Given the description of an element on the screen output the (x, y) to click on. 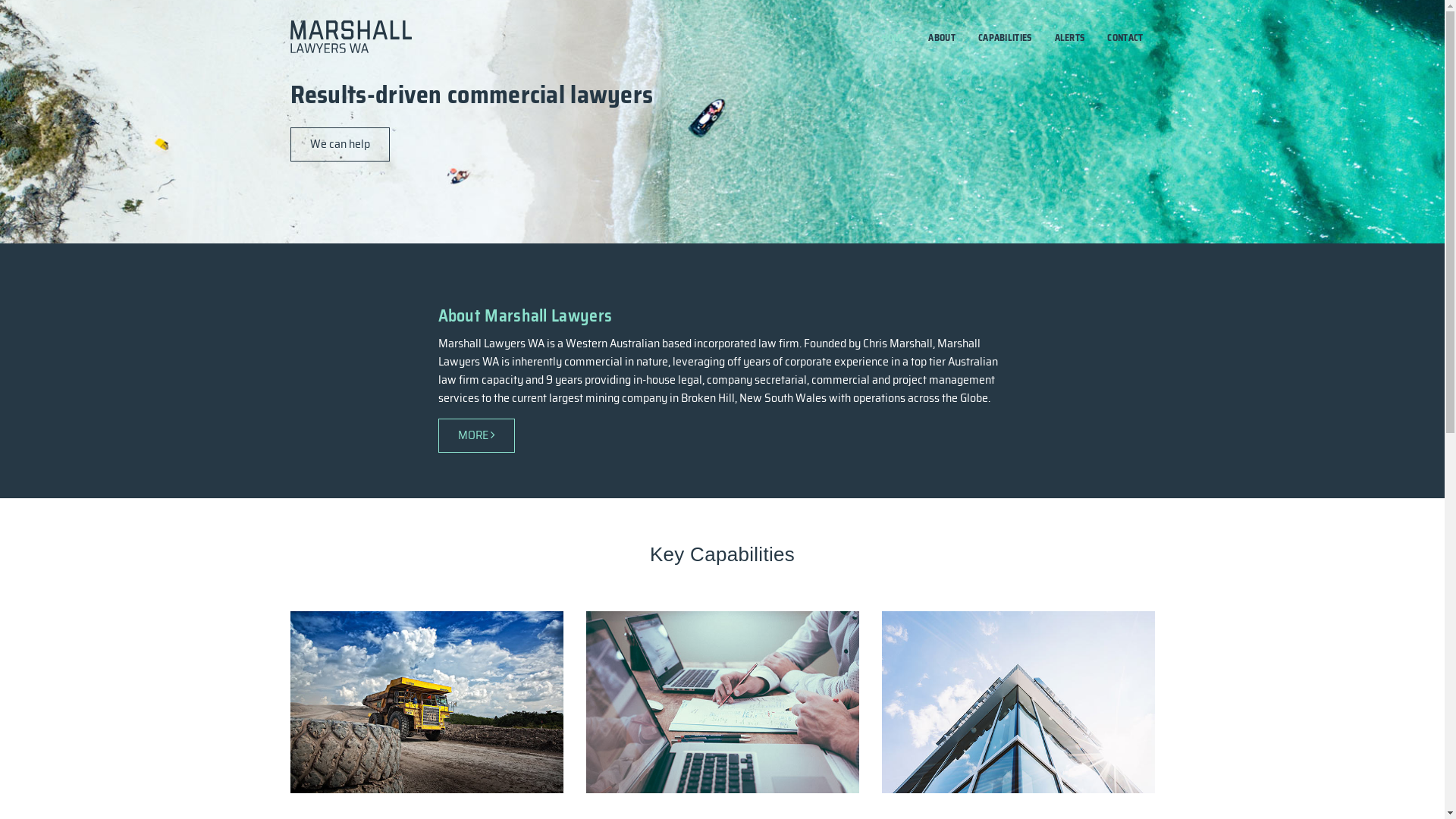
We can help Element type: text (339, 144)
HOME Element type: text (893, 37)
CONTACT Element type: text (1124, 37)
MORE Element type: text (476, 435)
ABOUT Element type: text (941, 37)
ALERTS Element type: text (1069, 37)
CAPABILITIES Element type: text (1004, 37)
